Given the description of an element on the screen output the (x, y) to click on. 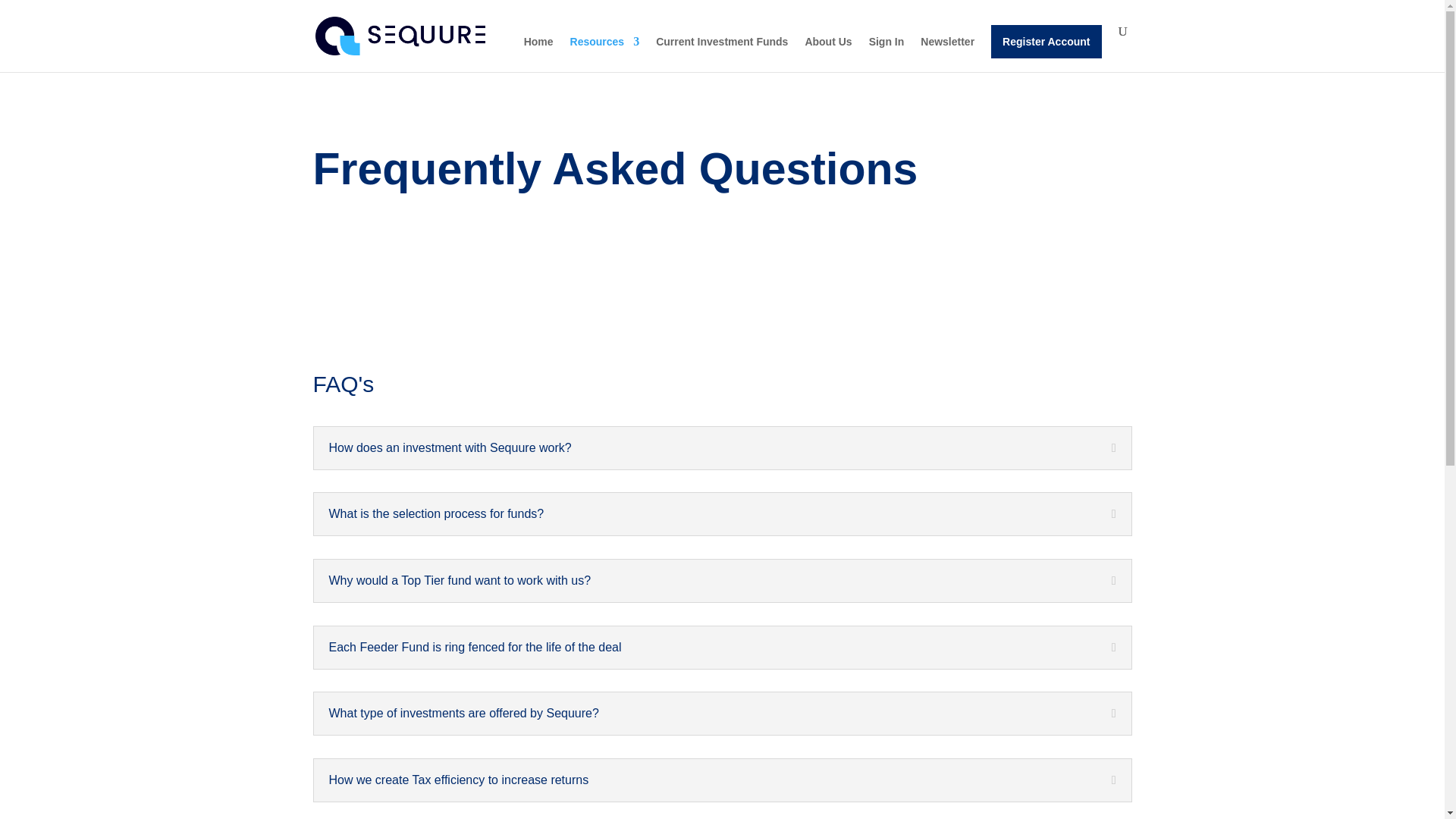
About Us (828, 54)
Resources (605, 54)
Sign In (886, 54)
Register Account (1045, 41)
Current Investment Funds (721, 54)
Newsletter (947, 54)
